Given the description of an element on the screen output the (x, y) to click on. 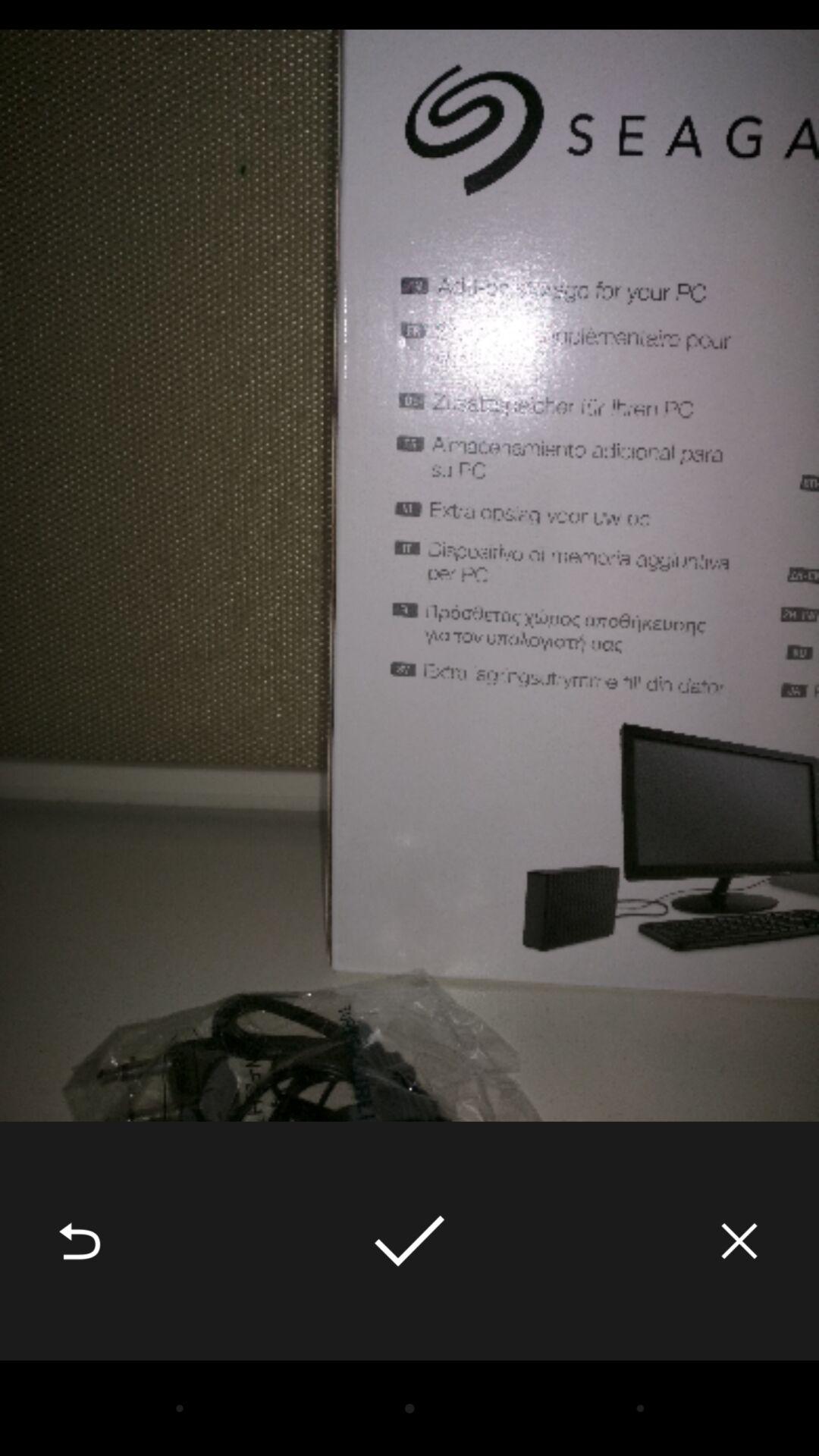
click the item at the bottom left corner (79, 1240)
